Given the description of an element on the screen output the (x, y) to click on. 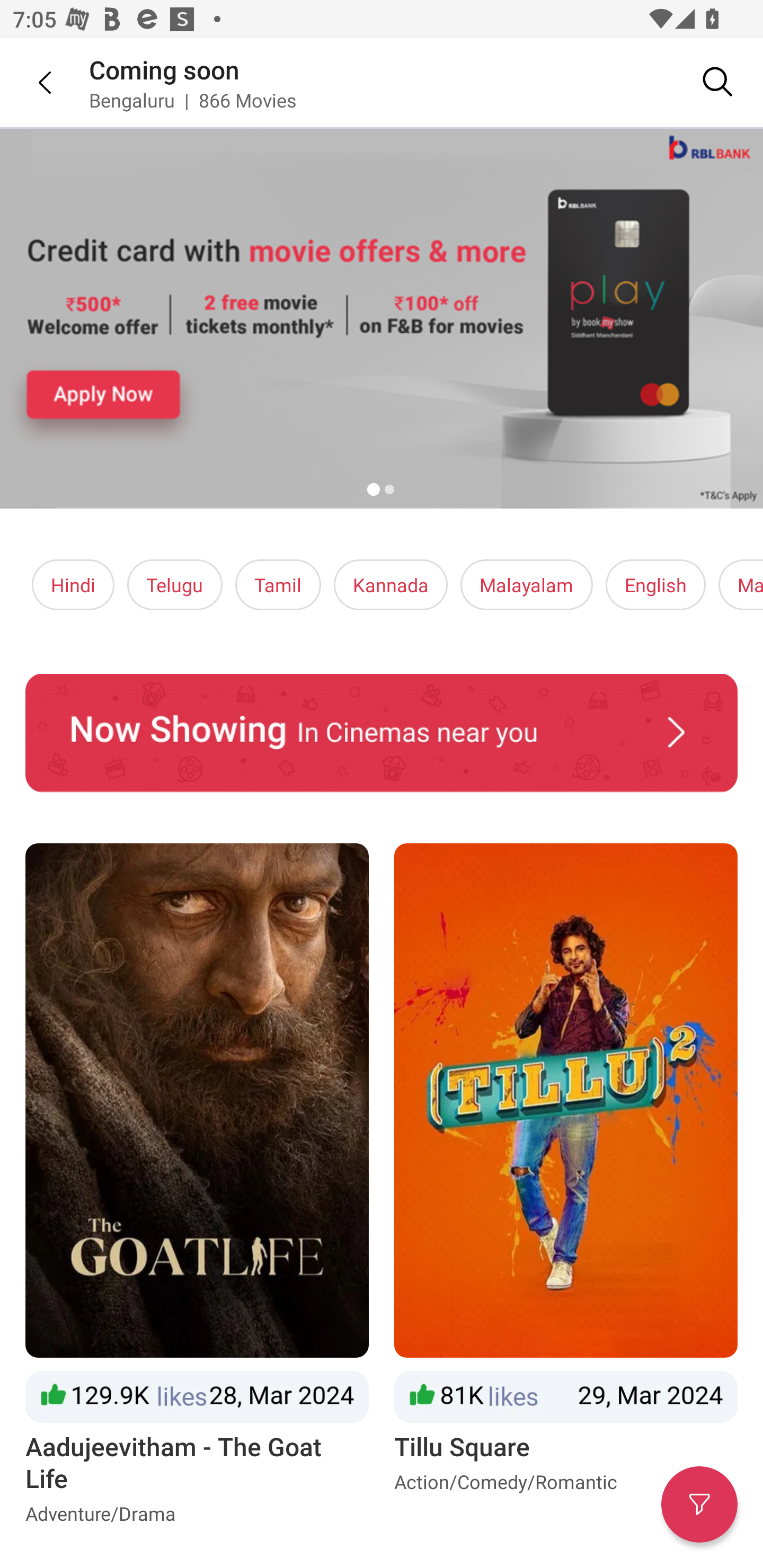
Back (31, 82)
Coming soon (164, 68)
Bengaluru  |  866 Movies (192, 99)
Hindi (73, 584)
Telugu (174, 584)
Tamil (278, 584)
Kannada (390, 584)
Malayalam (526, 584)
English (655, 584)
Aadujeevitham - The Goat Life Adventure/Drama (196, 1187)
Tillu Square Action/Comedy/Romantic (565, 1187)
Filter (699, 1504)
